Given the description of an element on the screen output the (x, y) to click on. 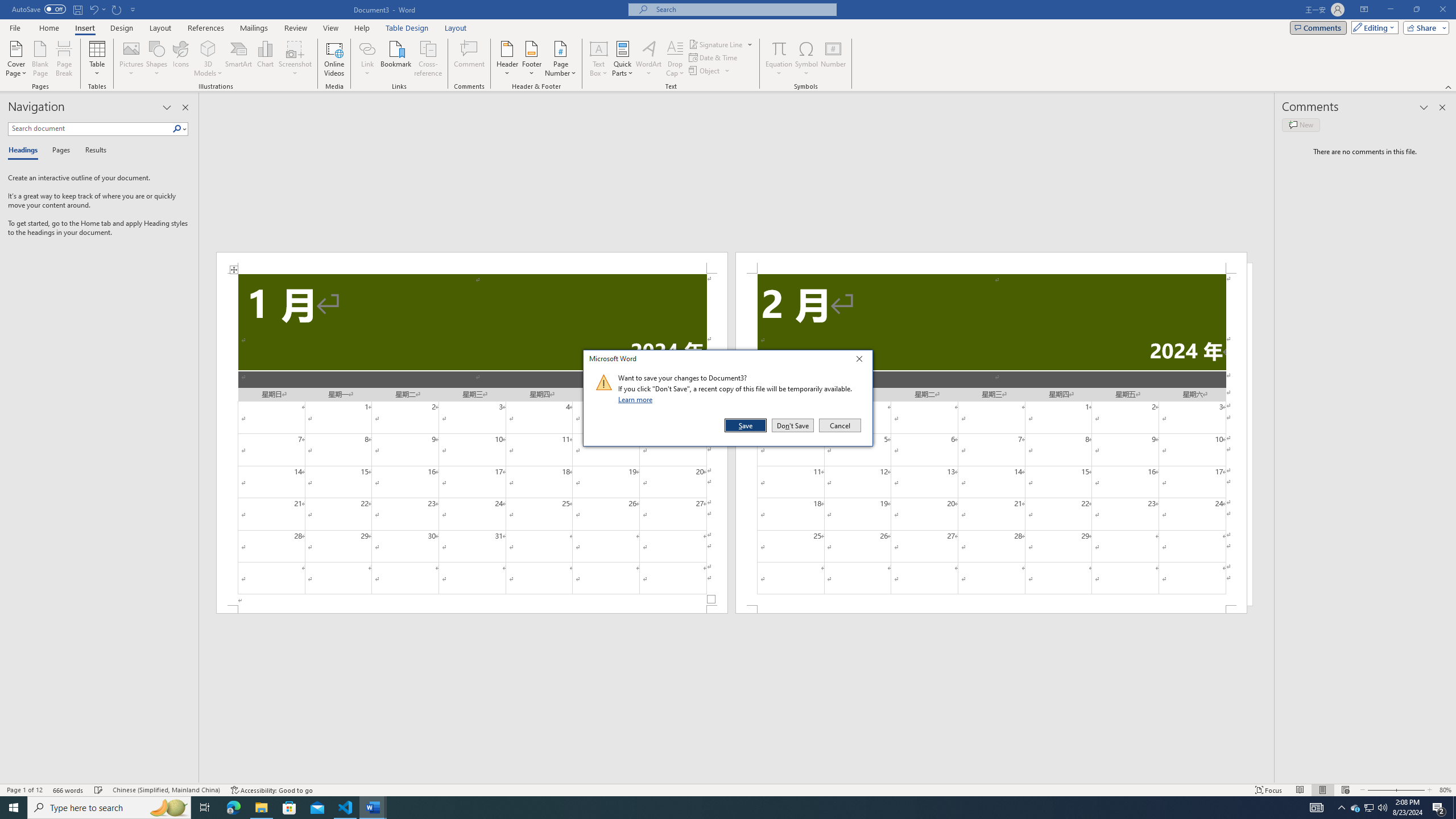
Learn more (636, 399)
Shapes (156, 58)
Page Number Page 1 of 12 (24, 790)
Header (507, 58)
Page Number (560, 58)
Date & Time... (714, 56)
WordArt (648, 58)
Cross-reference... (428, 58)
Footer (531, 58)
Chart... (265, 58)
Table (97, 58)
